Given the description of an element on the screen output the (x, y) to click on. 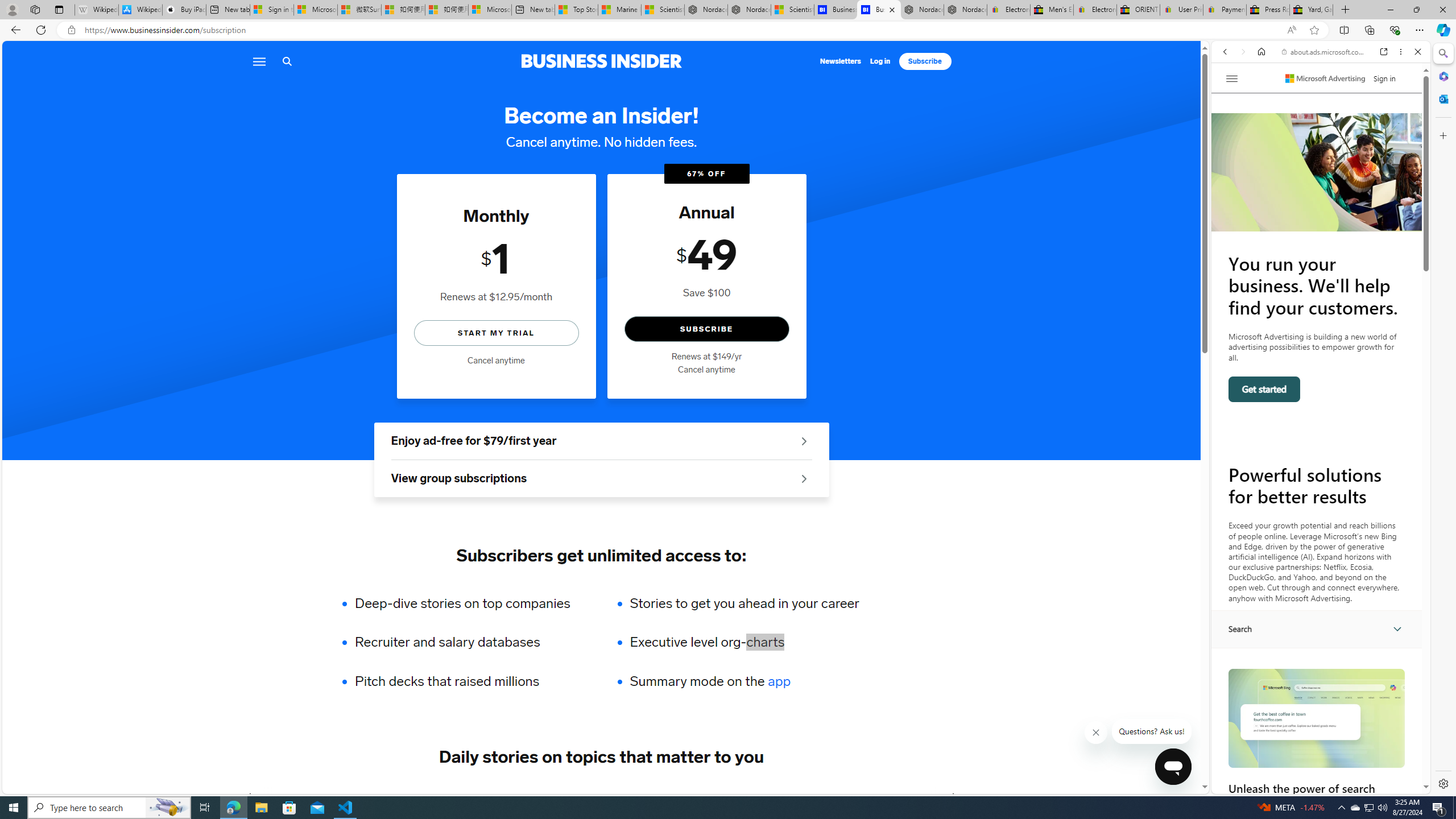
HEALTHCARE (680, 796)
RETAIL (422, 796)
Stories to get you ahead in your career (743, 602)
Go to the search page. (286, 61)
See group offers (803, 478)
